Given the description of an element on the screen output the (x, y) to click on. 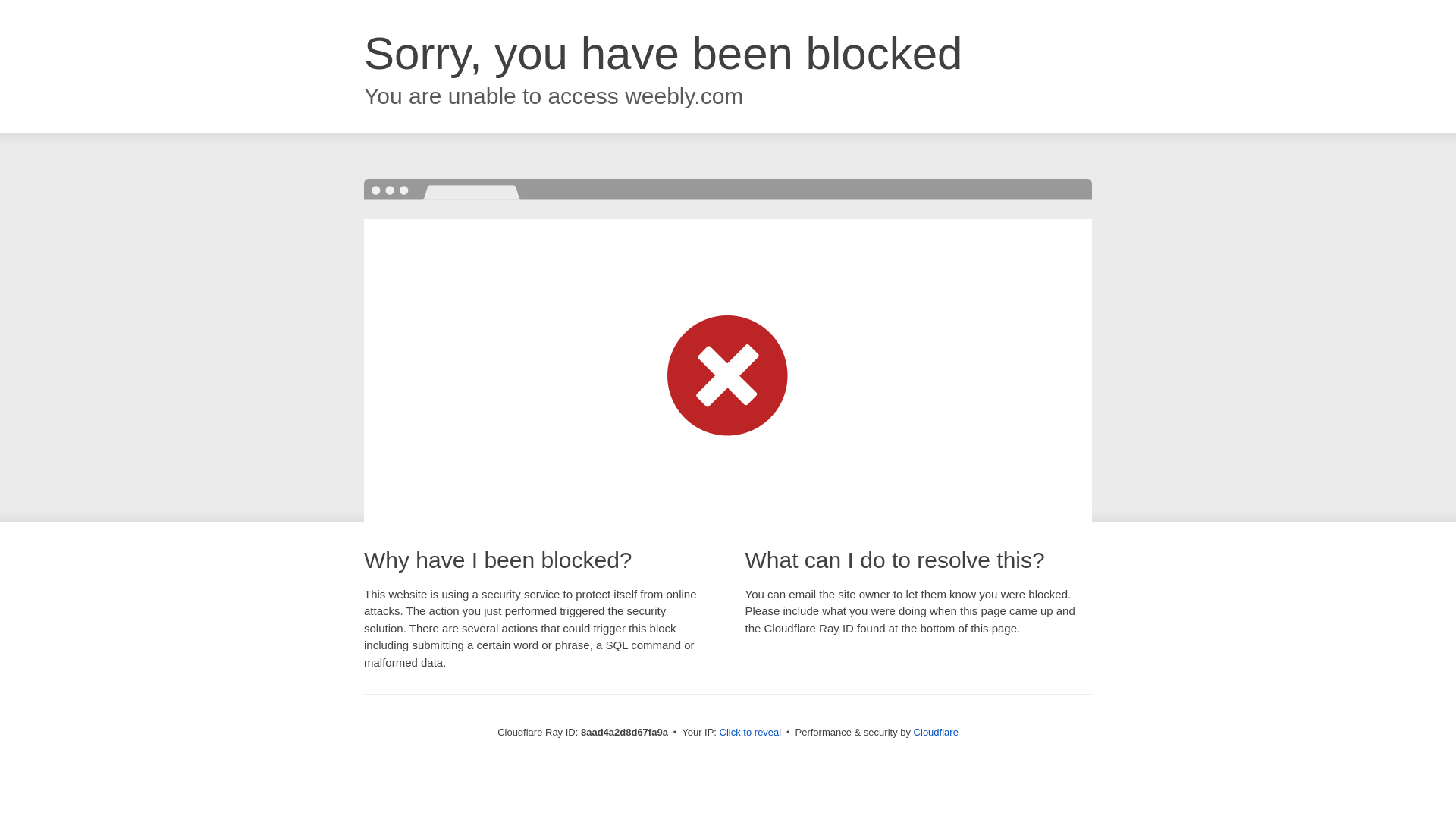
Cloudflare (936, 731)
Click to reveal (750, 732)
